Given the description of an element on the screen output the (x, y) to click on. 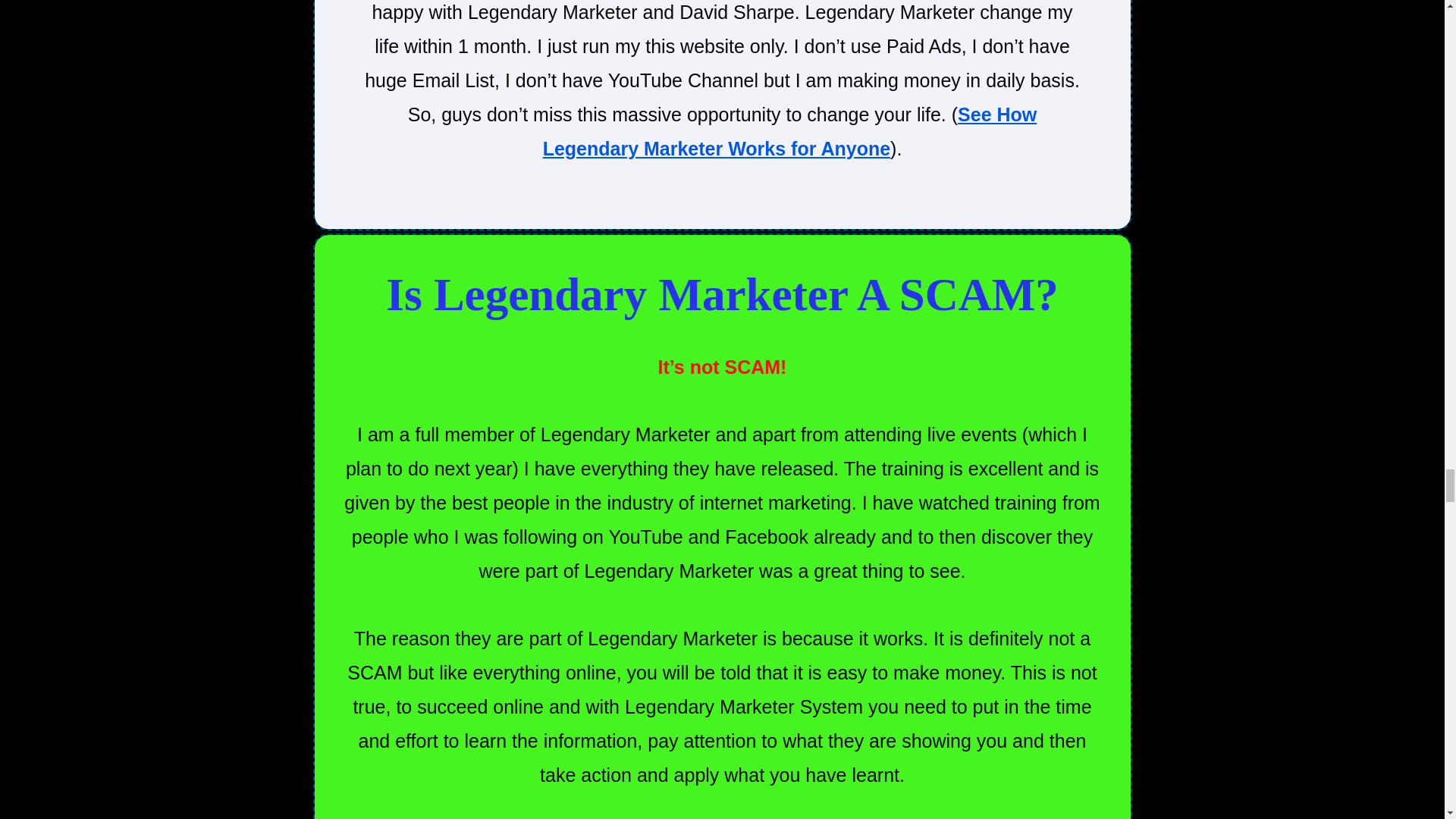
See How Legendary Marketer Works for Anyone (789, 131)
